Given the description of an element on the screen output the (x, y) to click on. 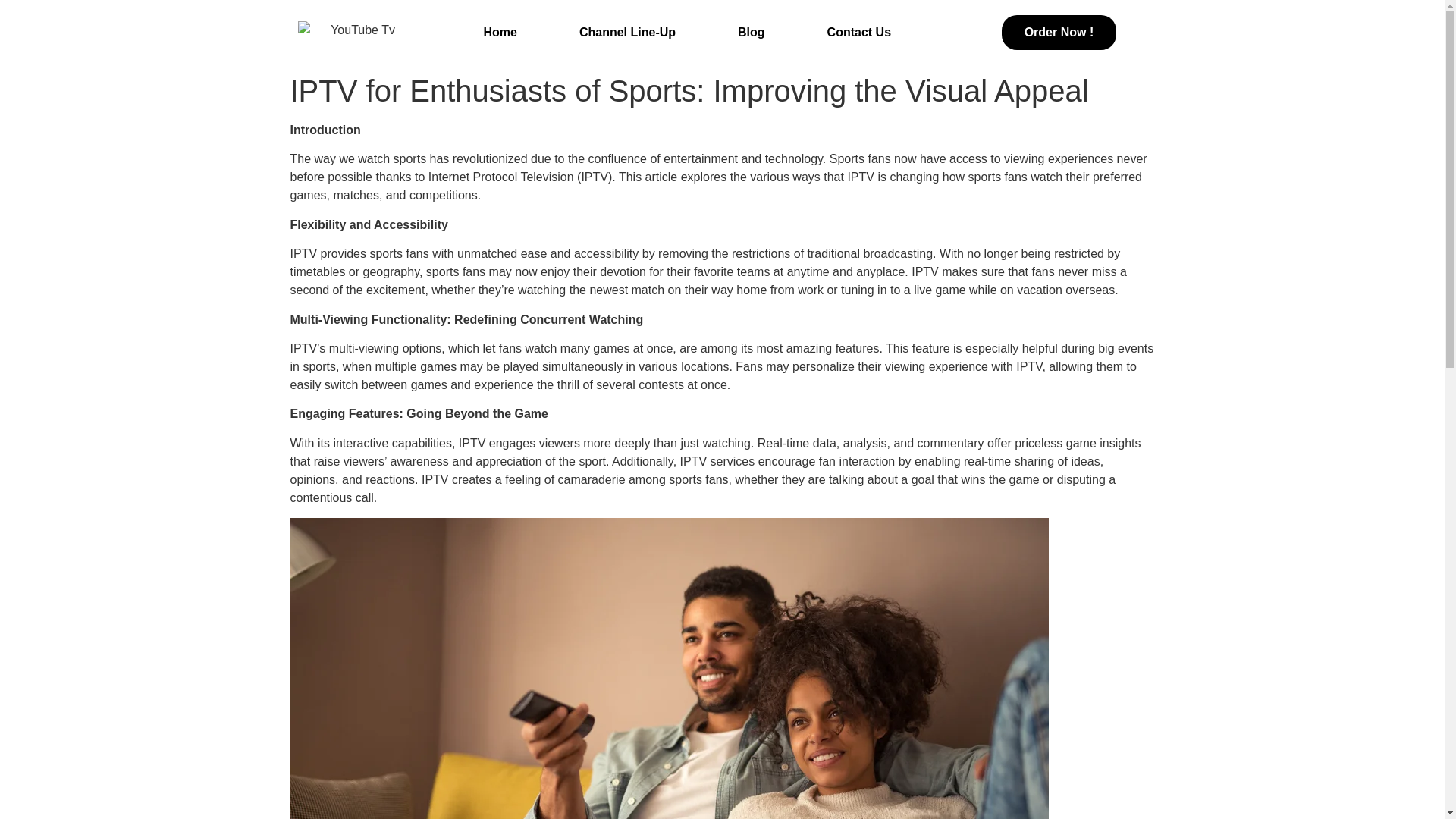
Home (499, 32)
Blog (751, 32)
Contact Us (858, 32)
Order Now ! (1058, 32)
Channel Line-Up (627, 32)
